Given the description of an element on the screen output the (x, y) to click on. 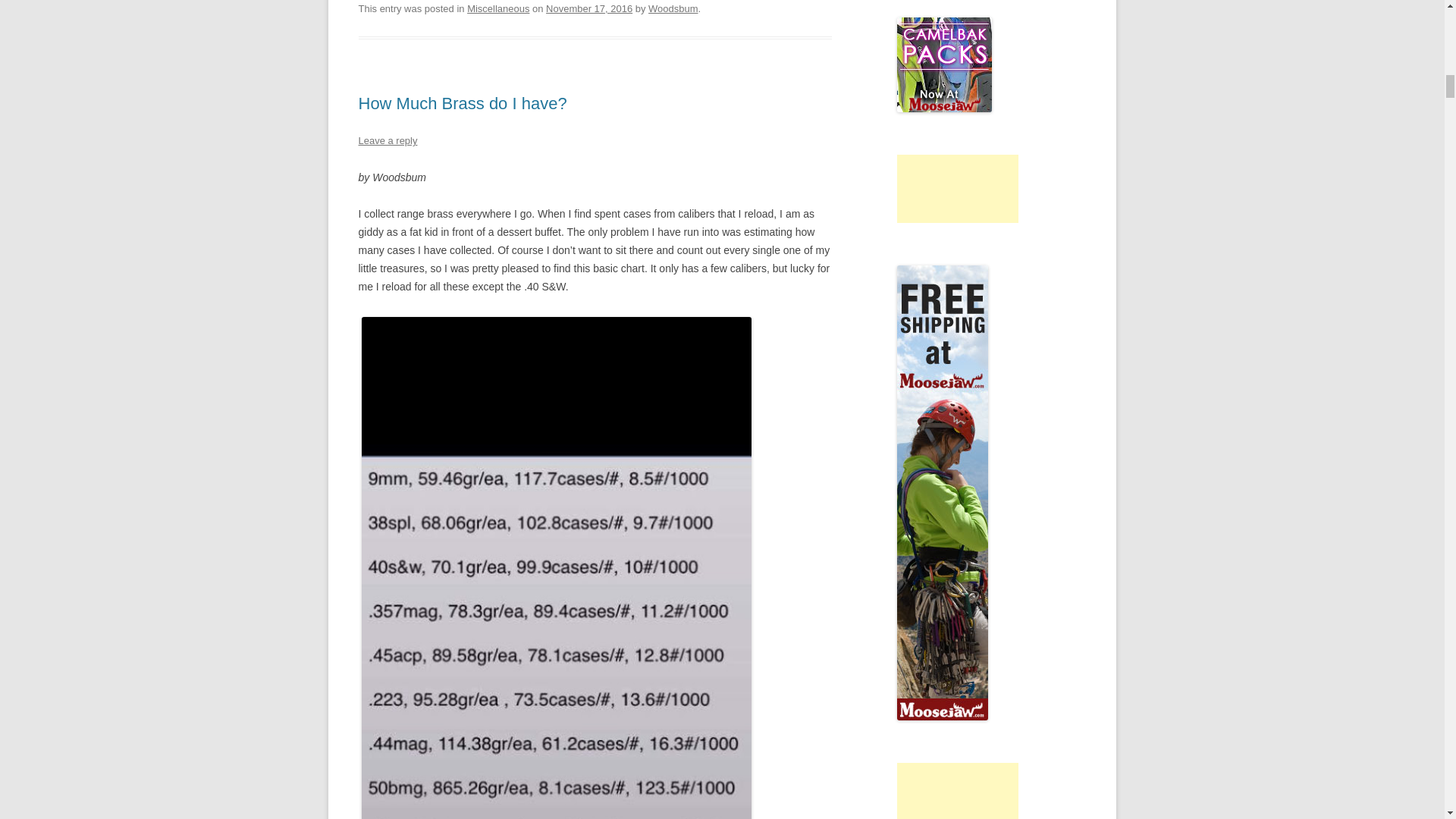
November 17, 2016 (588, 8)
View all posts by Woodsbum (672, 8)
How Much Brass do I have? (462, 103)
Leave a reply (387, 140)
Miscellaneous (498, 8)
7:19 pm (588, 8)
Woodsbum (672, 8)
